Given the description of an element on the screen output the (x, y) to click on. 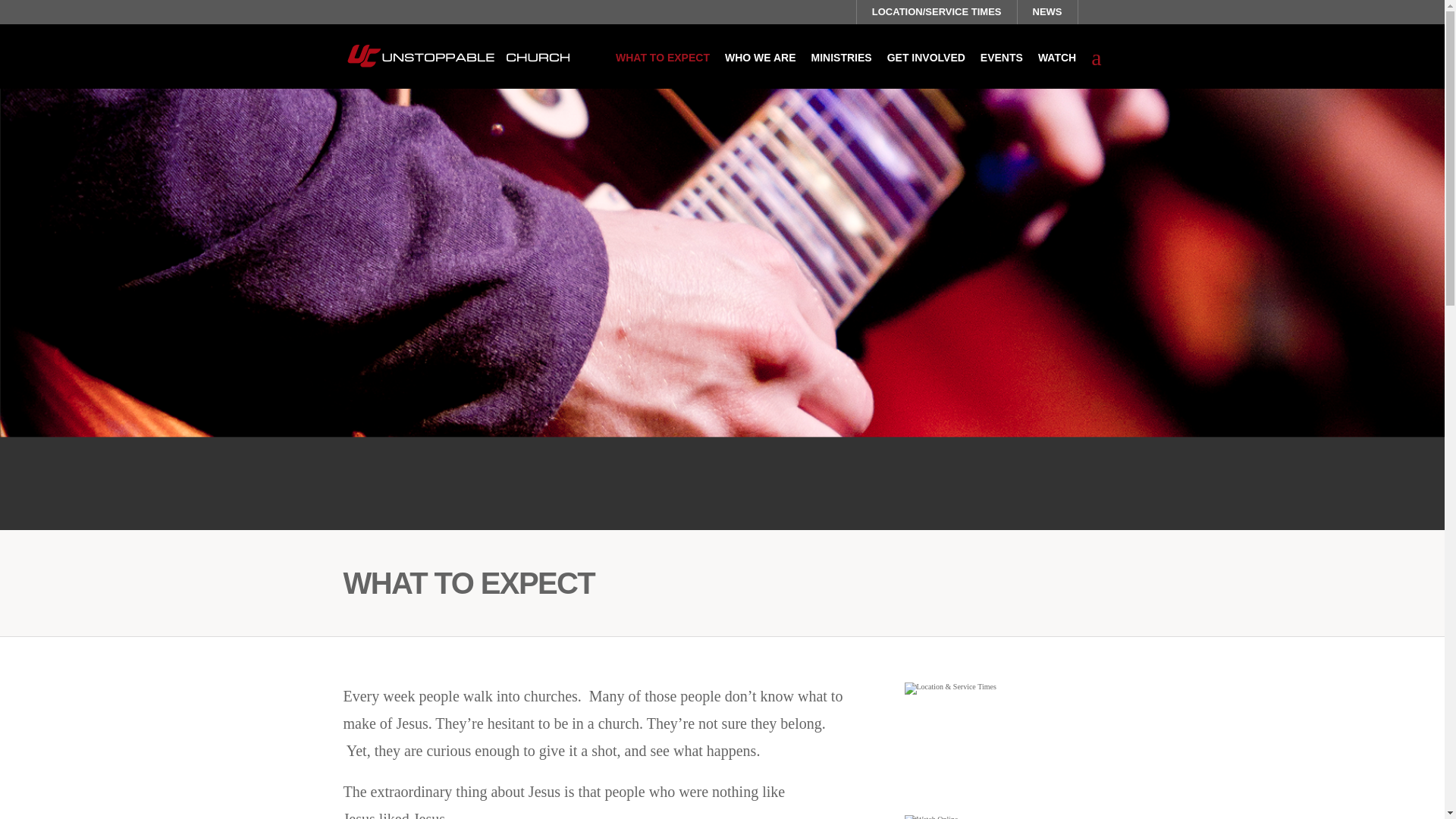
GET INVOLVED (925, 57)
WHO WE ARE (760, 57)
WATCH (1056, 57)
WHAT TO EXPECT (662, 57)
MINISTRIES (841, 57)
NEWS (1046, 12)
Unstoppable Church (457, 55)
GIVE (1088, 12)
EVENTS (1001, 57)
